Given the description of an element on the screen output the (x, y) to click on. 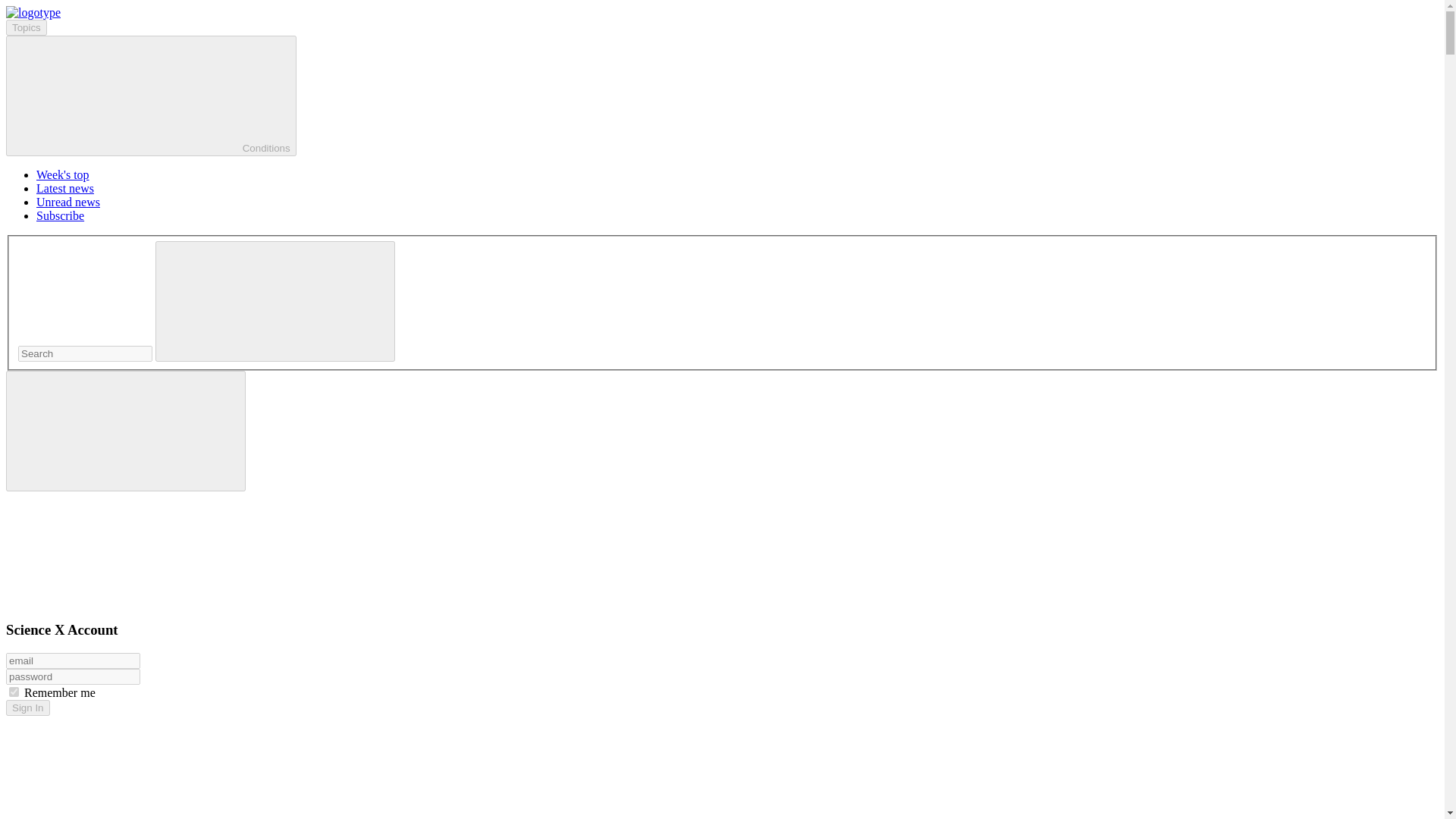
Subscribe (60, 215)
Topics (25, 27)
Sign In (27, 707)
Conditions (151, 96)
Unread news (68, 201)
Week's top (62, 174)
on (13, 691)
Latest news (65, 187)
